Given the description of an element on the screen output the (x, y) to click on. 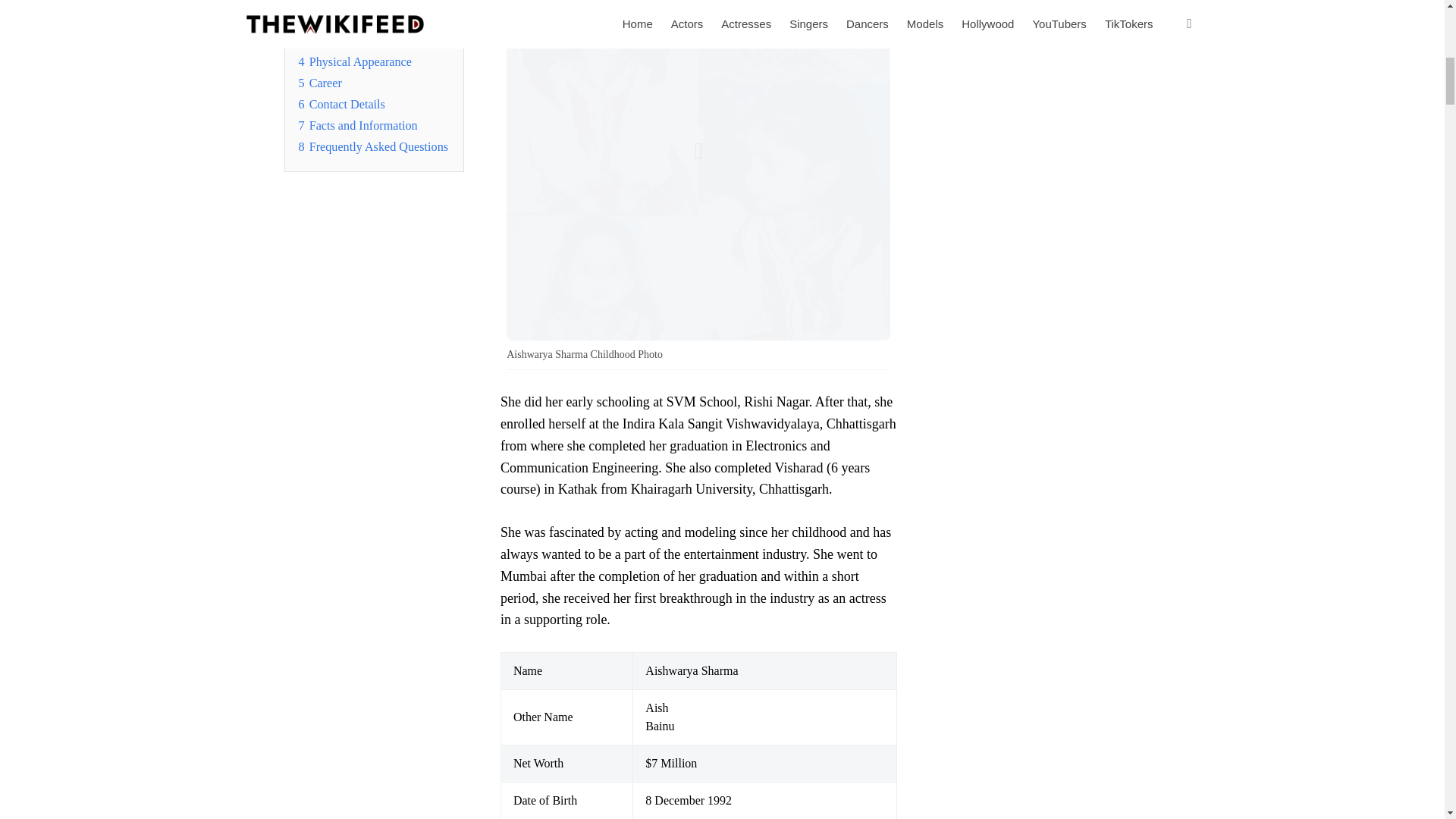
8 Frequently Asked Questions (373, 146)
7 Facts and Information (357, 125)
5 Career (320, 83)
6 Contact Details (341, 104)
4 Physical Appearance (355, 61)
